Given the description of an element on the screen output the (x, y) to click on. 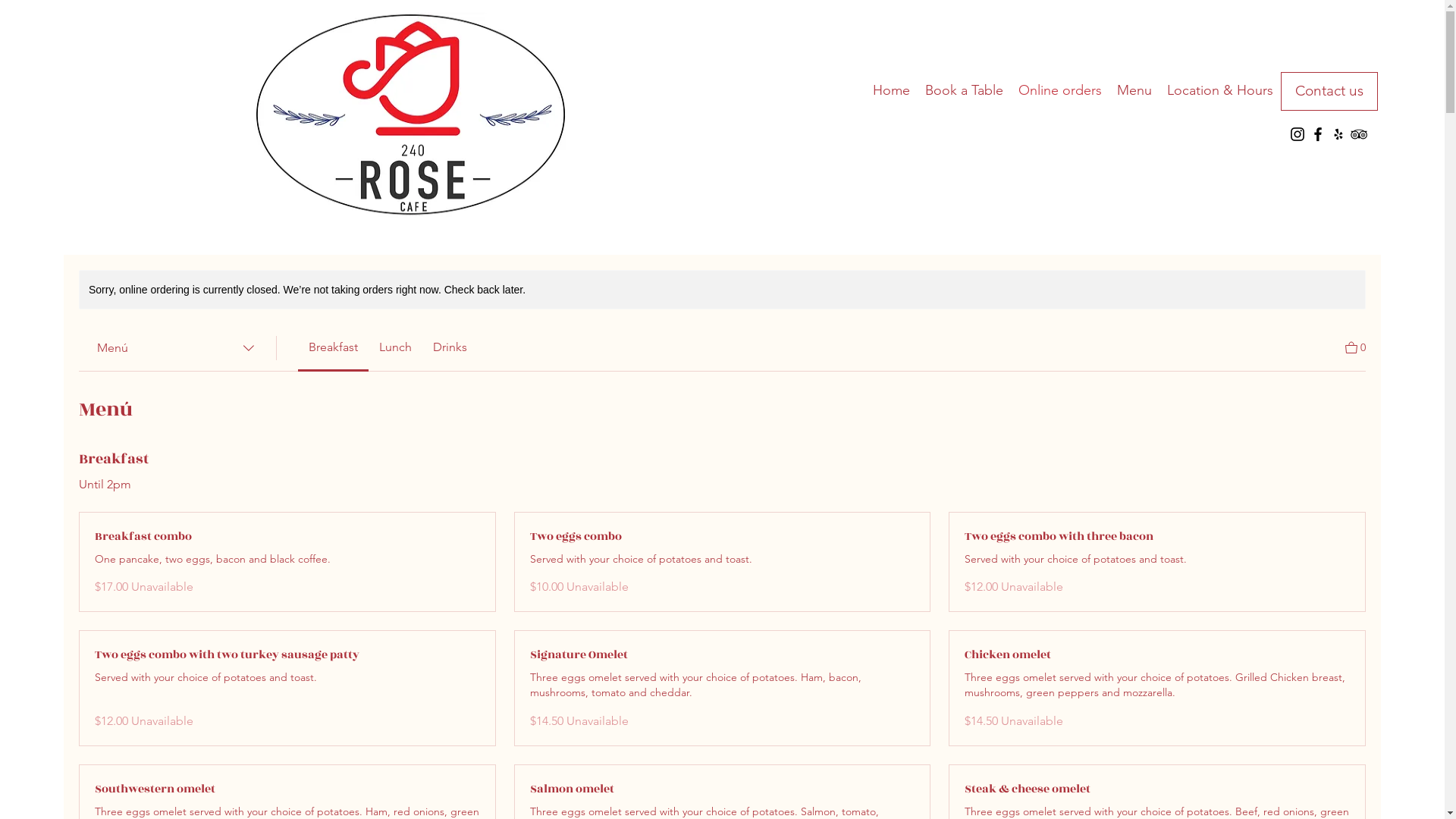
Steak & cheese omelet Element type: text (1156, 789)
Two eggs combo with two turkey sausage patty Element type: text (287, 655)
Breakfast combo Element type: text (287, 536)
0 Element type: text (1355, 346)
Two eggs combo Element type: text (722, 536)
Chicken omelet Element type: text (1156, 655)
Book a Table Element type: text (963, 90)
Southwestern omelet Element type: text (287, 789)
Online orders Element type: text (1059, 90)
Menu Element type: text (1134, 90)
Salmon omelet Element type: text (722, 789)
Location & Hours Element type: text (1219, 90)
Contact us Element type: text (1328, 91)
Home Element type: text (891, 90)
Two eggs combo with three bacon Element type: text (1156, 536)
Signature Omelet Element type: text (722, 655)
